Given the description of an element on the screen output the (x, y) to click on. 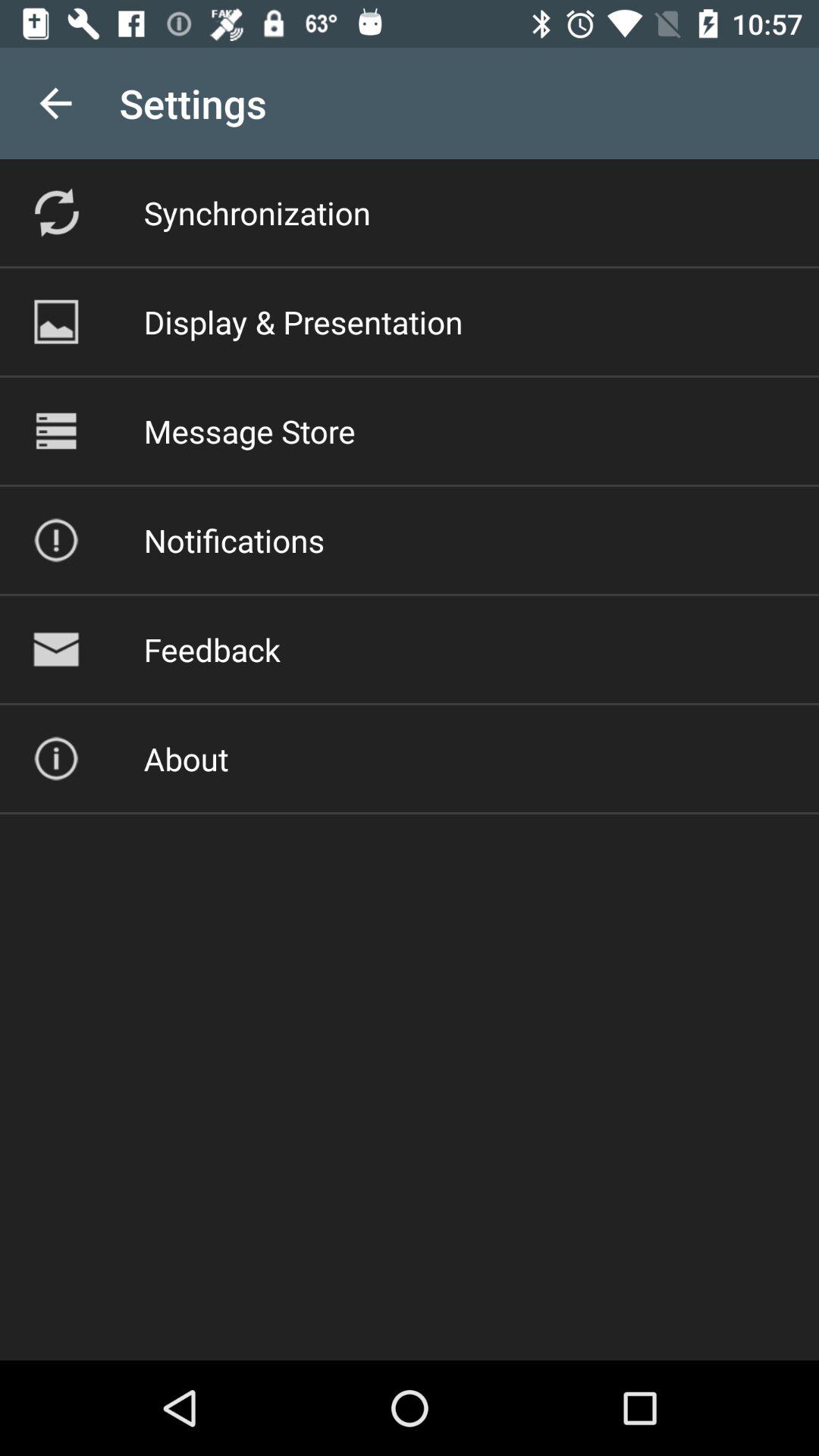
choose icon below the settings app (256, 212)
